Given the description of an element on the screen output the (x, y) to click on. 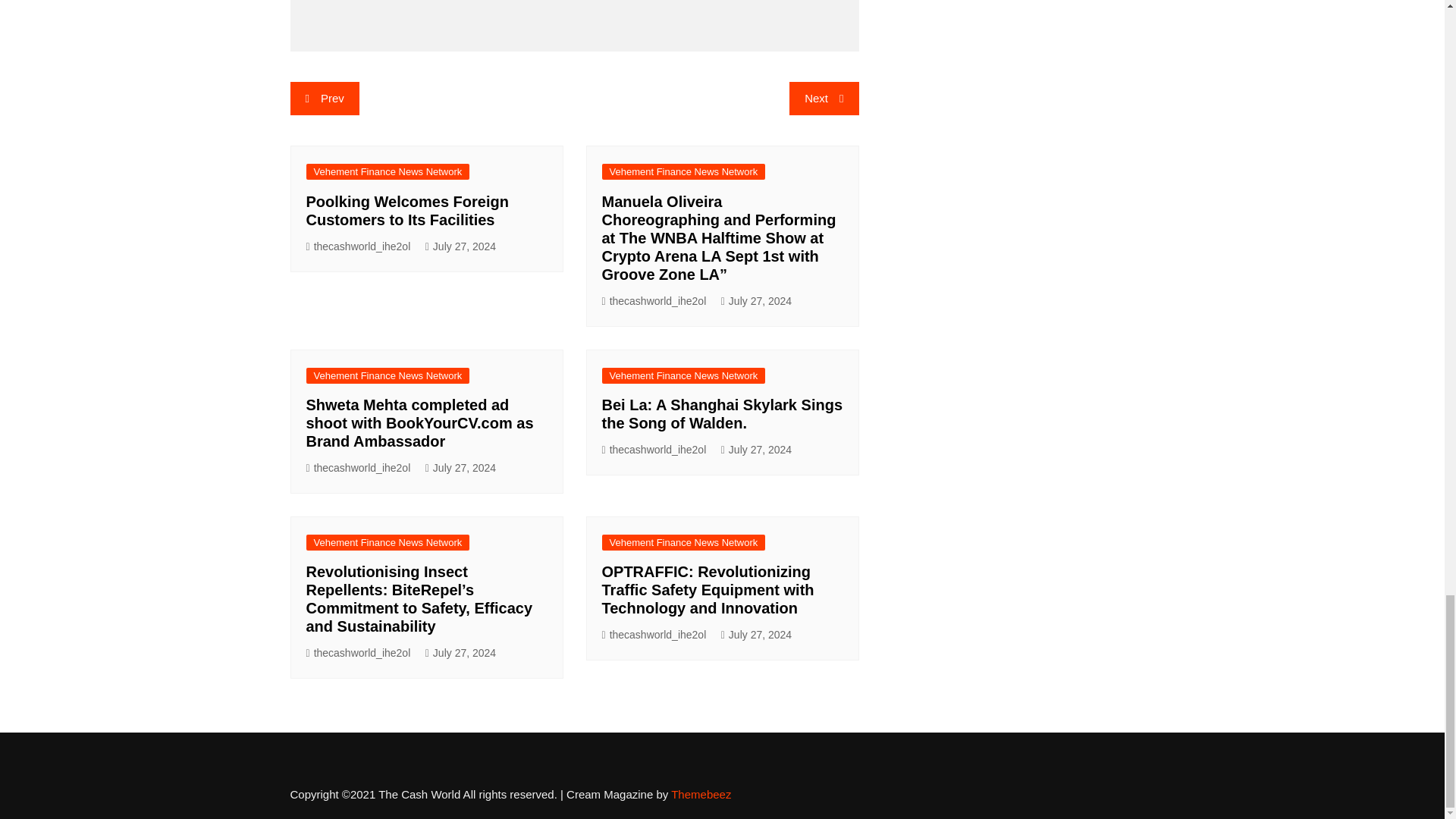
Vehement Finance News Network (387, 171)
July 27, 2024 (460, 246)
Prev (323, 98)
Vehement Finance News Network (387, 375)
July 27, 2024 (756, 301)
Vehement Finance News Network (683, 171)
Next (824, 98)
Poolking Welcomes Foreign Customers to Its Facilities (406, 210)
